Given the description of an element on the screen output the (x, y) to click on. 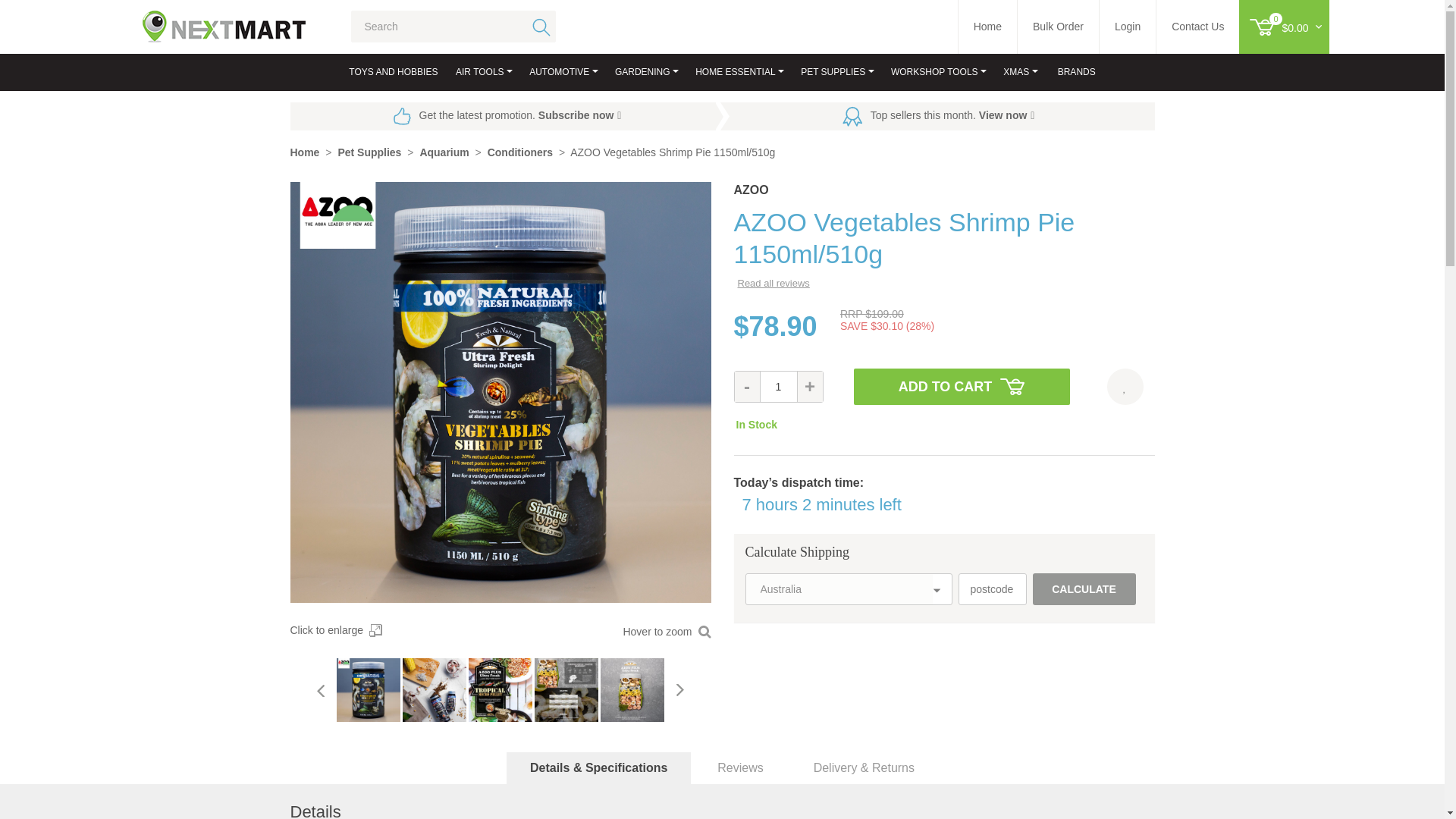
Search (538, 26)
Shopping cart (1290, 26)
TOYS AND HOBBIES (392, 72)
Contact Us (1197, 27)
Login (1127, 27)
View now (1006, 114)
1 (778, 386)
Bulk Order (1058, 27)
HOME ESSENTIAL (734, 72)
Large View (500, 689)
AUTOMOTIVE (558, 72)
NEXTMART (209, 20)
Large View (368, 689)
Large View (434, 689)
AIR TOOLS (479, 72)
